Given the description of an element on the screen output the (x, y) to click on. 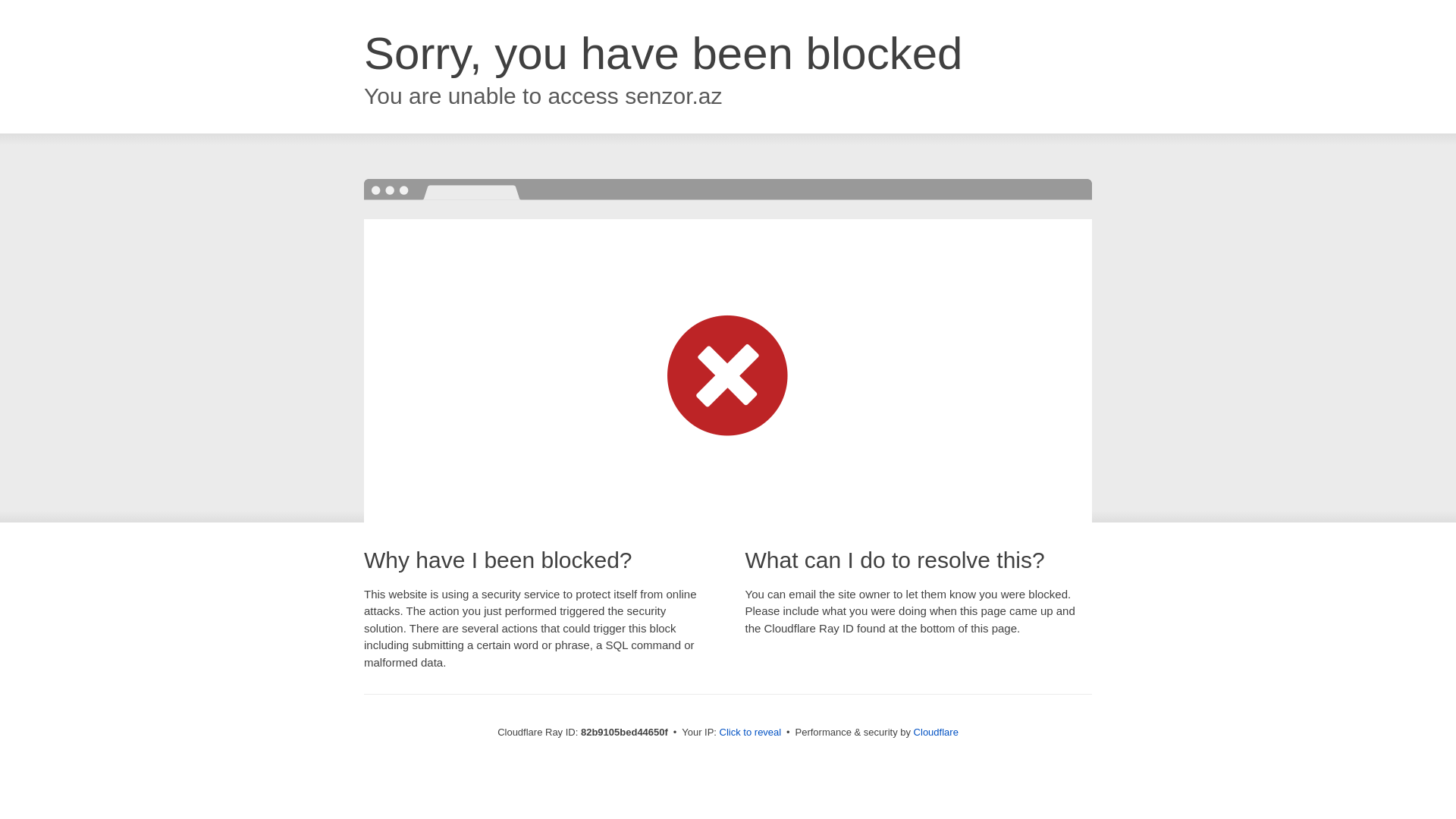
Cloudflare Element type: text (935, 731)
Click to reveal Element type: text (750, 732)
